Given the description of an element on the screen output the (x, y) to click on. 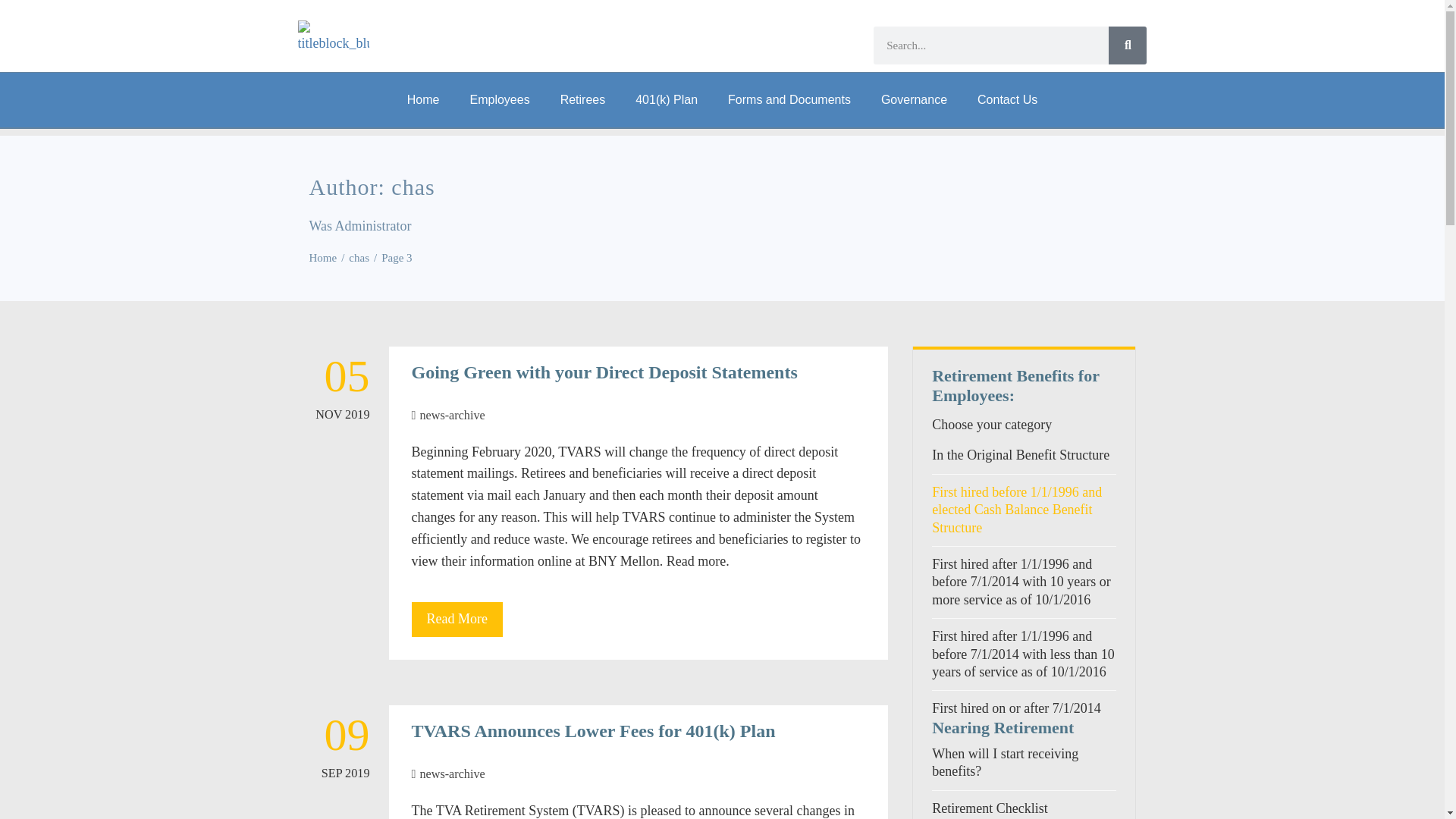
news-archive (451, 774)
Forms and Documents (789, 99)
Home (422, 99)
Contact Us (1007, 99)
news-archive (451, 415)
Governance (914, 99)
Read More (456, 619)
Employees (499, 99)
chas (359, 257)
Retirees (582, 99)
